Given the description of an element on the screen output the (x, y) to click on. 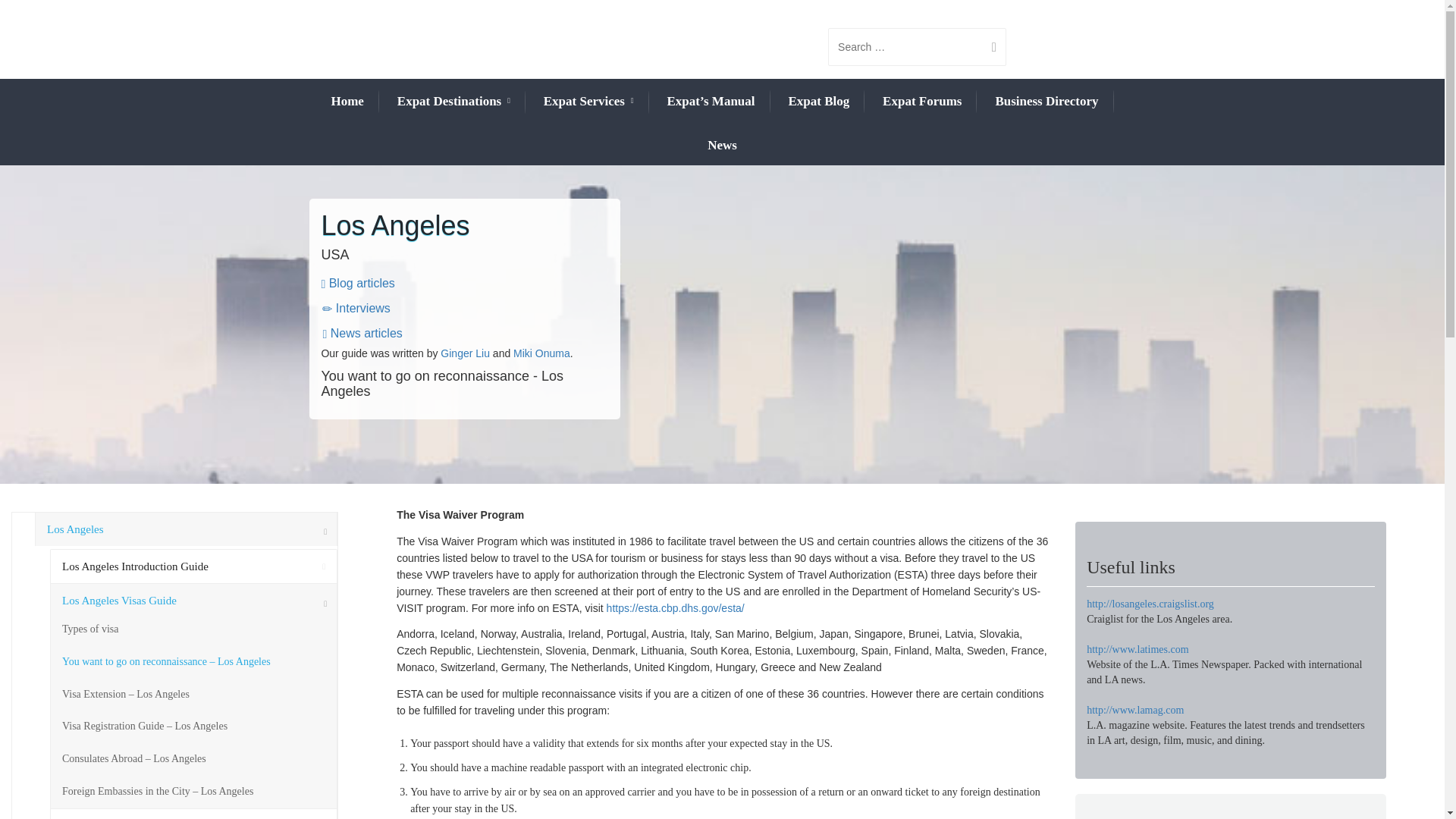
Register (750, 110)
Home (346, 100)
Search (987, 46)
Expat Destinations (454, 101)
Search (987, 46)
Sign In (816, 110)
Search (987, 46)
